Given the description of an element on the screen output the (x, y) to click on. 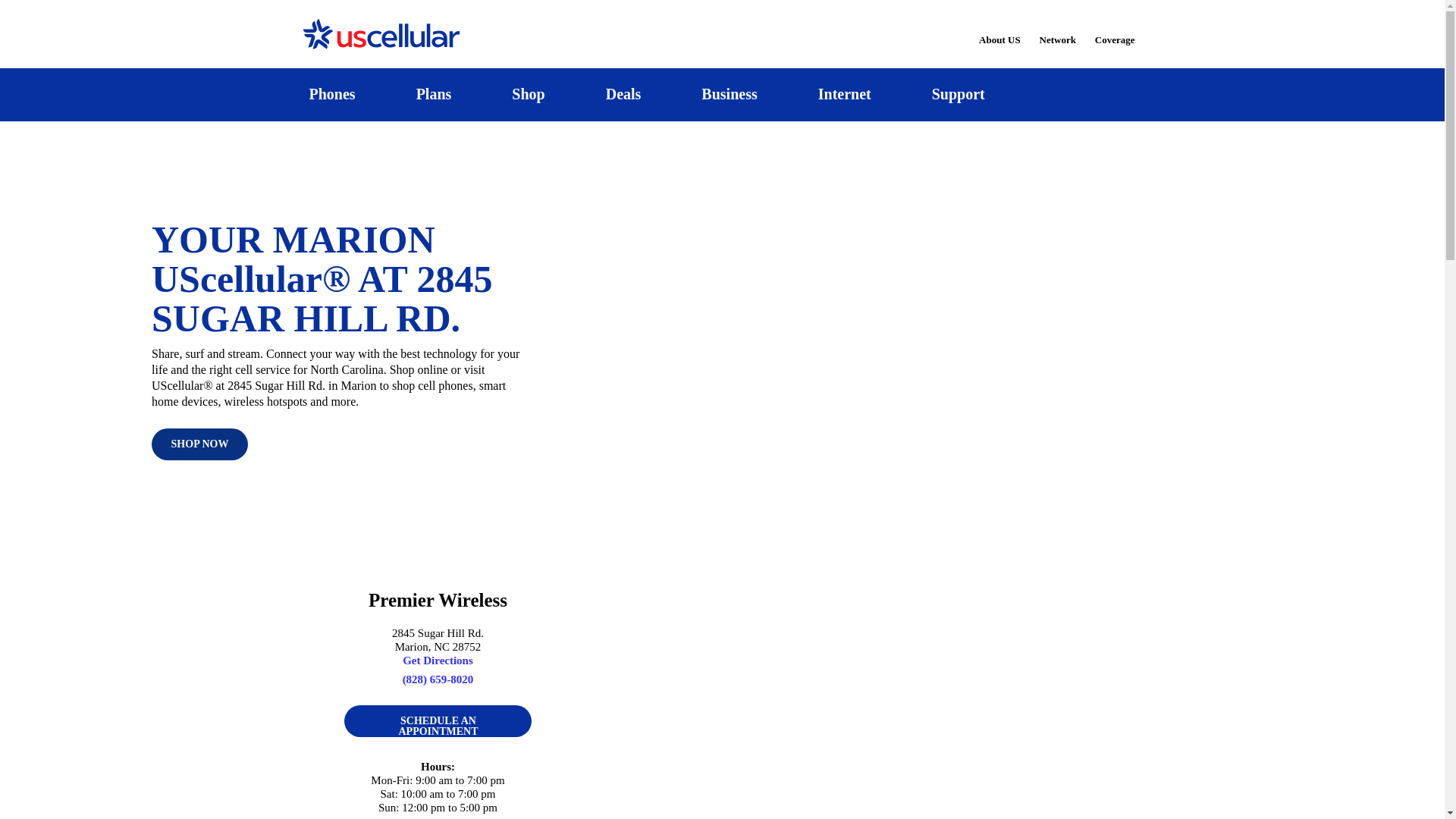
SHOP NOW (199, 444)
Coverage (1115, 29)
Support (957, 94)
Plans (433, 94)
Network (1057, 30)
SCHEDULE AN APPOINTMENT (437, 721)
Internet (844, 94)
Phones (332, 94)
Shop (528, 94)
Business (729, 94)
Get Directions (438, 660)
Deals (623, 94)
About US (999, 30)
